Given the description of an element on the screen output the (x, y) to click on. 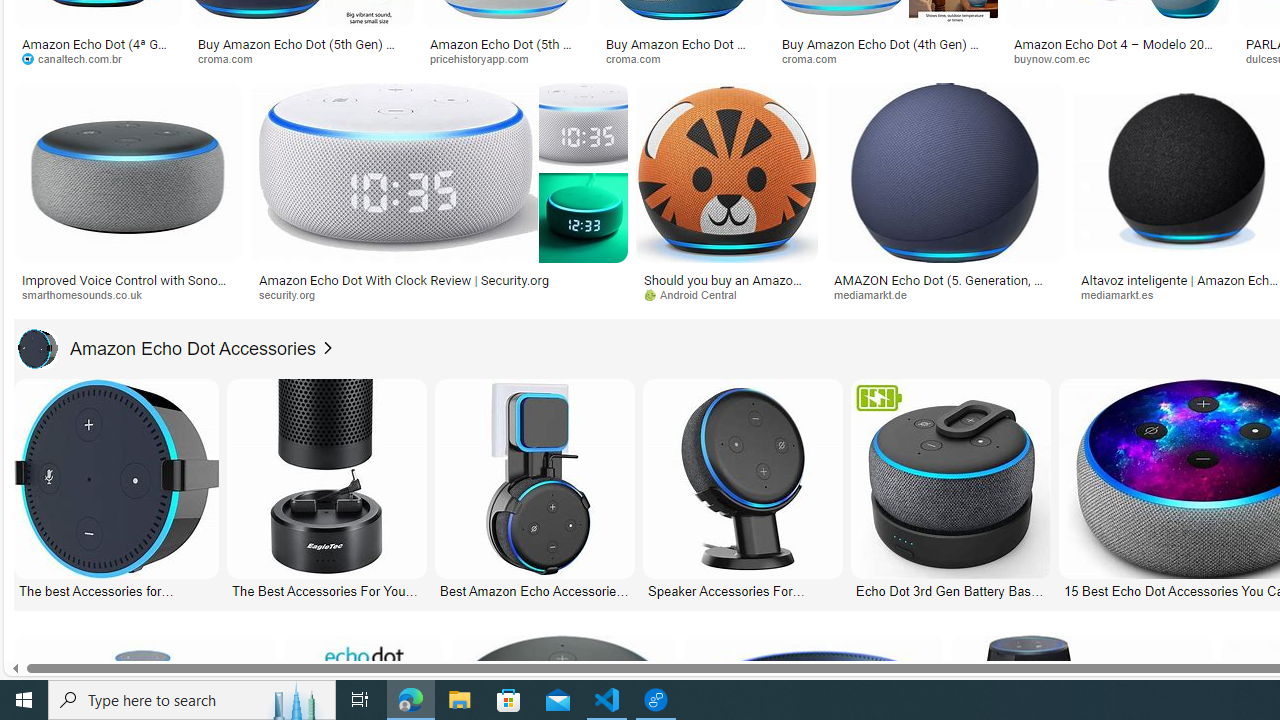
buynow.com.ec (1117, 58)
Image result for Amazon Echo Dot PNG (944, 172)
croma.com (885, 58)
Improved Voice Control with Sonos & Alexa Echo devices (128, 286)
